Given the description of an element on the screen output the (x, y) to click on. 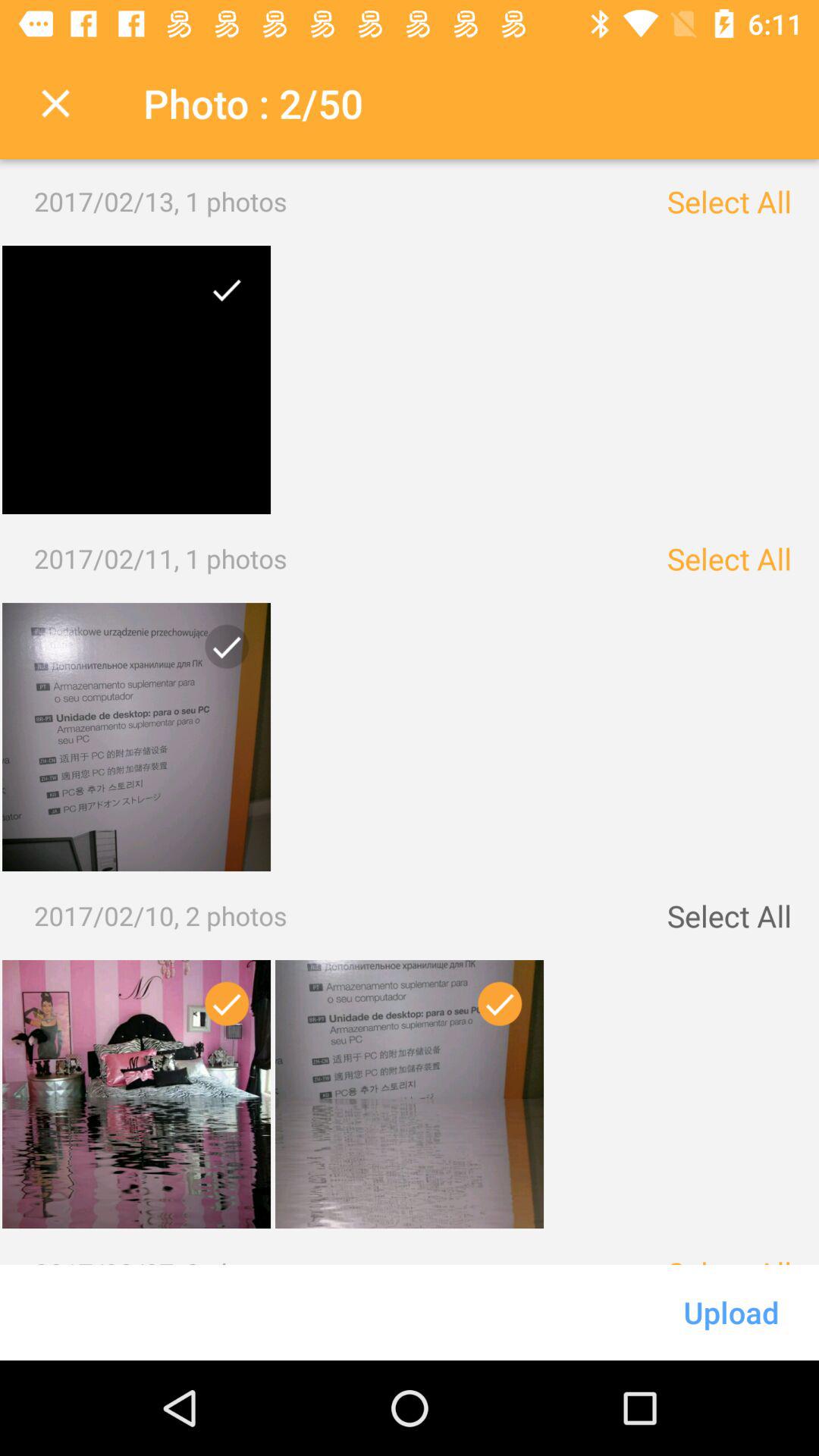
click on the image in the 2 nd row (221, 651)
click the option select all (728, 201)
select the picture which is beside the pink colour picture (409, 1093)
